Given the description of an element on the screen output the (x, y) to click on. 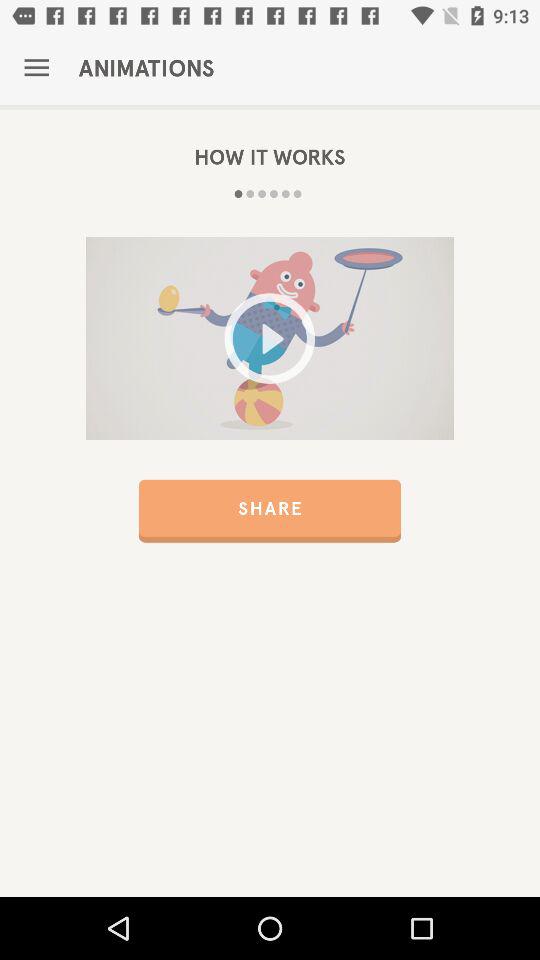
tap share icon (269, 510)
